Given the description of an element on the screen output the (x, y) to click on. 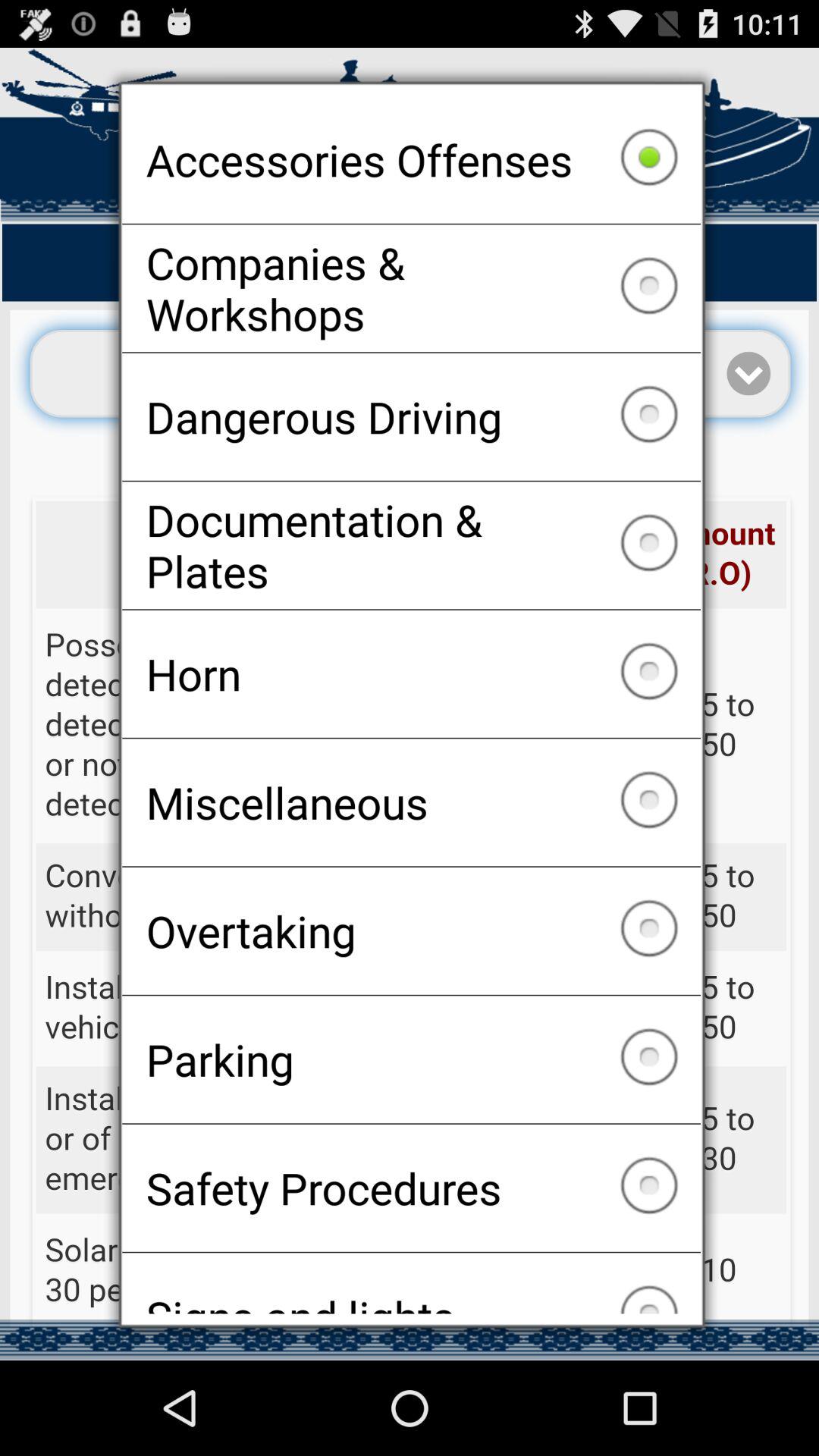
choose the icon below the overtaking (411, 1059)
